Given the description of an element on the screen output the (x, y) to click on. 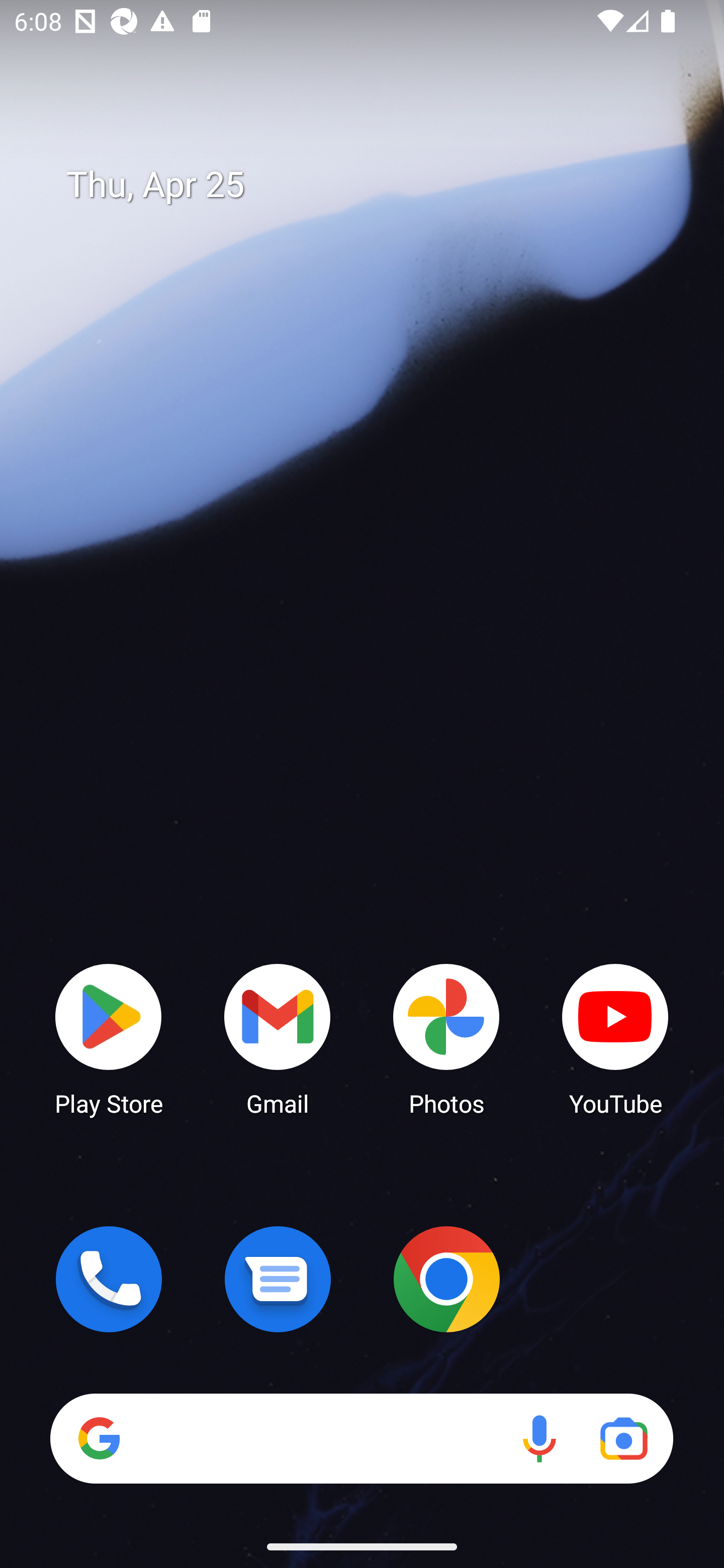
Thu, Apr 25 (375, 184)
Play Store (108, 1038)
Gmail (277, 1038)
Photos (445, 1038)
YouTube (615, 1038)
Phone (108, 1279)
Messages (277, 1279)
Chrome (446, 1279)
Search Voice search Google Lens (361, 1438)
Voice search (539, 1438)
Google Lens (623, 1438)
